Given the description of an element on the screen output the (x, y) to click on. 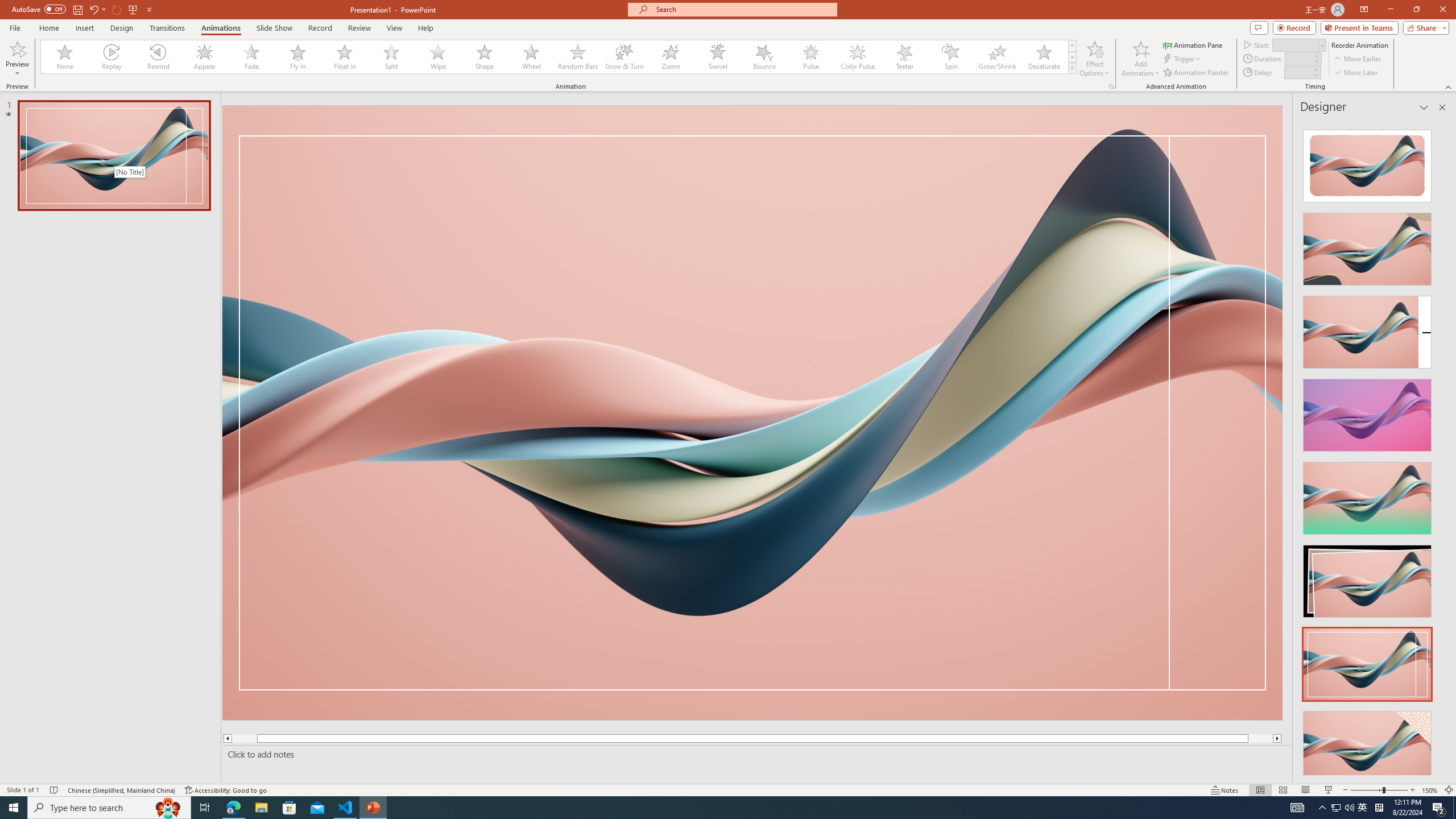
Appear (205, 56)
Animation Painter (1196, 72)
Recommended Design: Design Idea (1366, 162)
None (65, 56)
Bounce (764, 56)
Random Bars (577, 56)
Fade (251, 56)
Trigger (1182, 58)
